Given the description of an element on the screen output the (x, y) to click on. 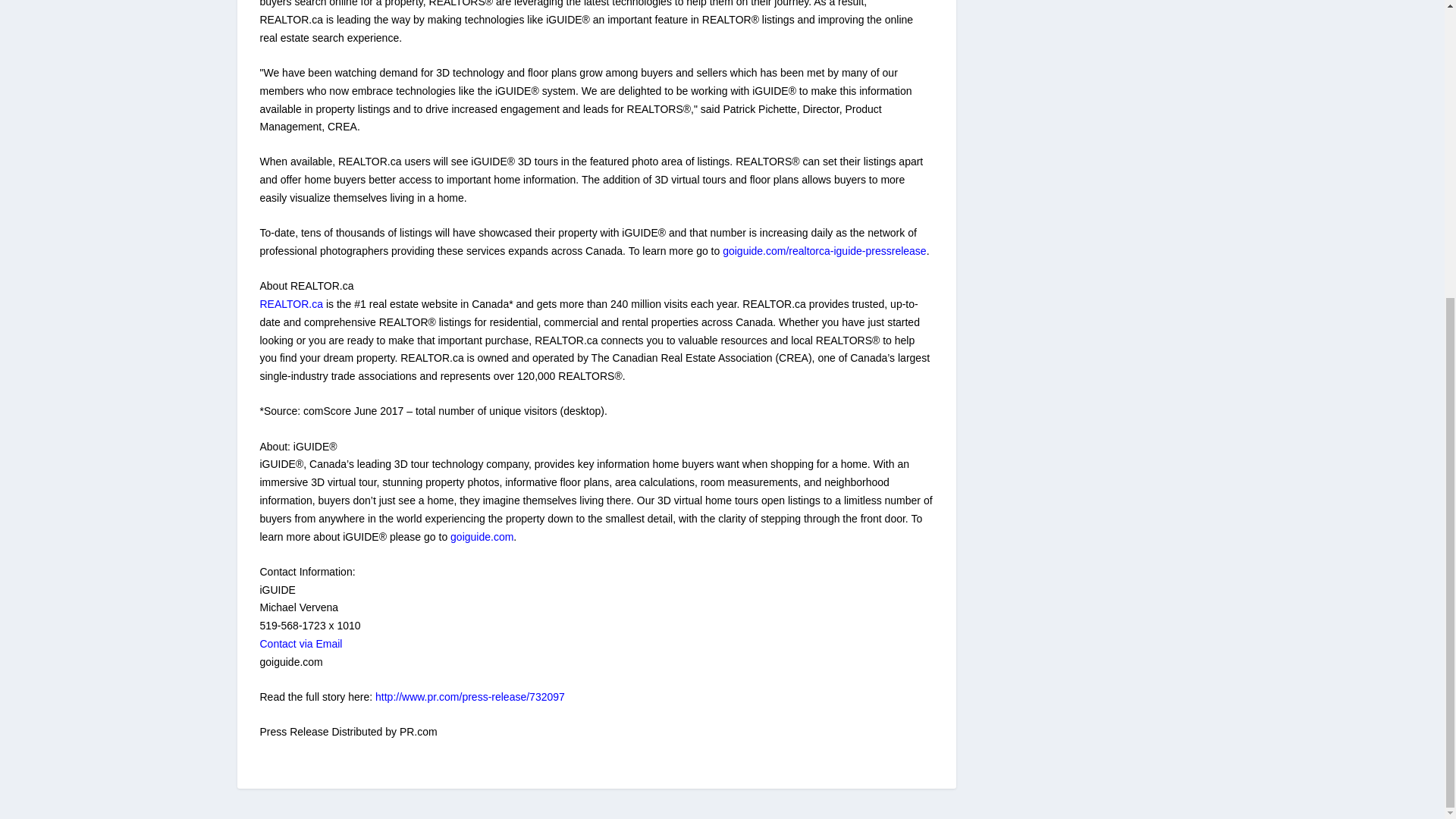
goiguide.com (481, 536)
Contact via Email (300, 644)
REALTOR.ca (291, 304)
